Given the description of an element on the screen output the (x, y) to click on. 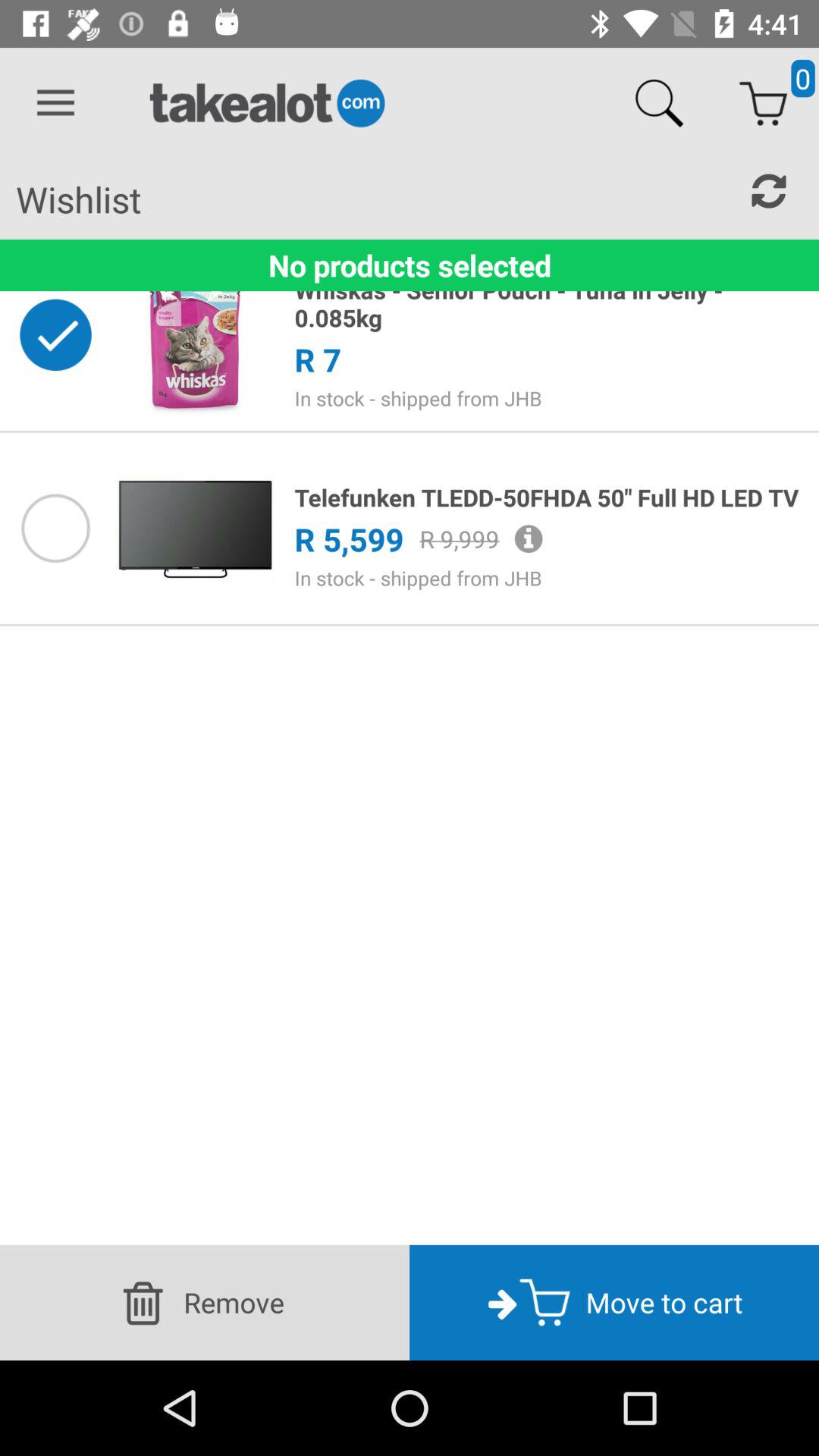
select option (55, 528)
